Given the description of an element on the screen output the (x, y) to click on. 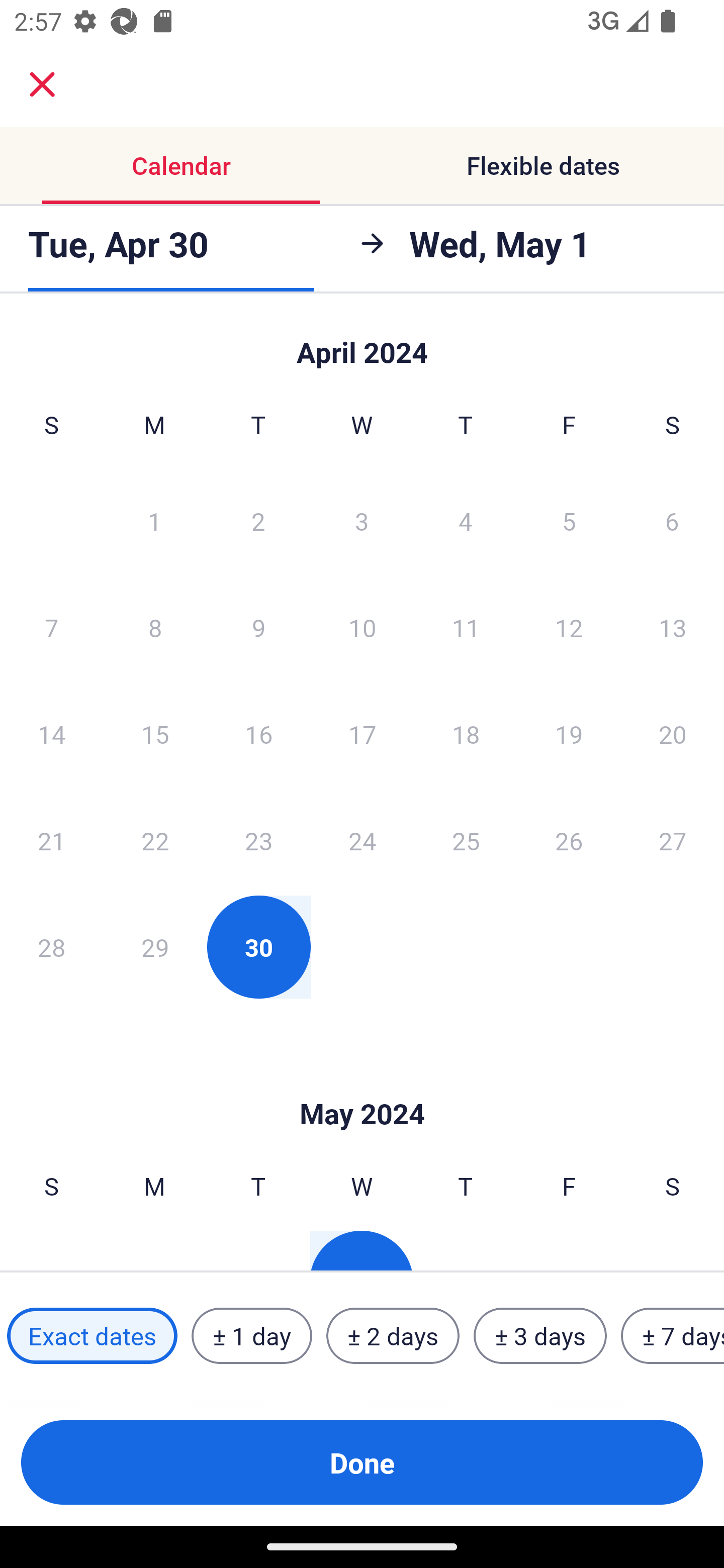
close. (42, 84)
Flexible dates (542, 164)
Skip to Done (362, 343)
1 Monday, April 1, 2024 (154, 520)
2 Tuesday, April 2, 2024 (257, 520)
3 Wednesday, April 3, 2024 (361, 520)
4 Thursday, April 4, 2024 (465, 520)
5 Friday, April 5, 2024 (568, 520)
6 Saturday, April 6, 2024 (672, 520)
7 Sunday, April 7, 2024 (51, 626)
8 Monday, April 8, 2024 (155, 626)
9 Tuesday, April 9, 2024 (258, 626)
10 Wednesday, April 10, 2024 (362, 626)
11 Thursday, April 11, 2024 (465, 626)
12 Friday, April 12, 2024 (569, 626)
13 Saturday, April 13, 2024 (672, 626)
14 Sunday, April 14, 2024 (51, 733)
15 Monday, April 15, 2024 (155, 733)
16 Tuesday, April 16, 2024 (258, 733)
17 Wednesday, April 17, 2024 (362, 733)
18 Thursday, April 18, 2024 (465, 733)
19 Friday, April 19, 2024 (569, 733)
20 Saturday, April 20, 2024 (672, 733)
21 Sunday, April 21, 2024 (51, 840)
22 Monday, April 22, 2024 (155, 840)
23 Tuesday, April 23, 2024 (258, 840)
24 Wednesday, April 24, 2024 (362, 840)
25 Thursday, April 25, 2024 (465, 840)
26 Friday, April 26, 2024 (569, 840)
27 Saturday, April 27, 2024 (672, 840)
28 Sunday, April 28, 2024 (51, 946)
29 Monday, April 29, 2024 (155, 946)
Skip to Done (362, 1083)
Exact dates (92, 1335)
± 1 day (251, 1335)
± 2 days (392, 1335)
± 3 days (539, 1335)
± 7 days (672, 1335)
Done (361, 1462)
